Given the description of an element on the screen output the (x, y) to click on. 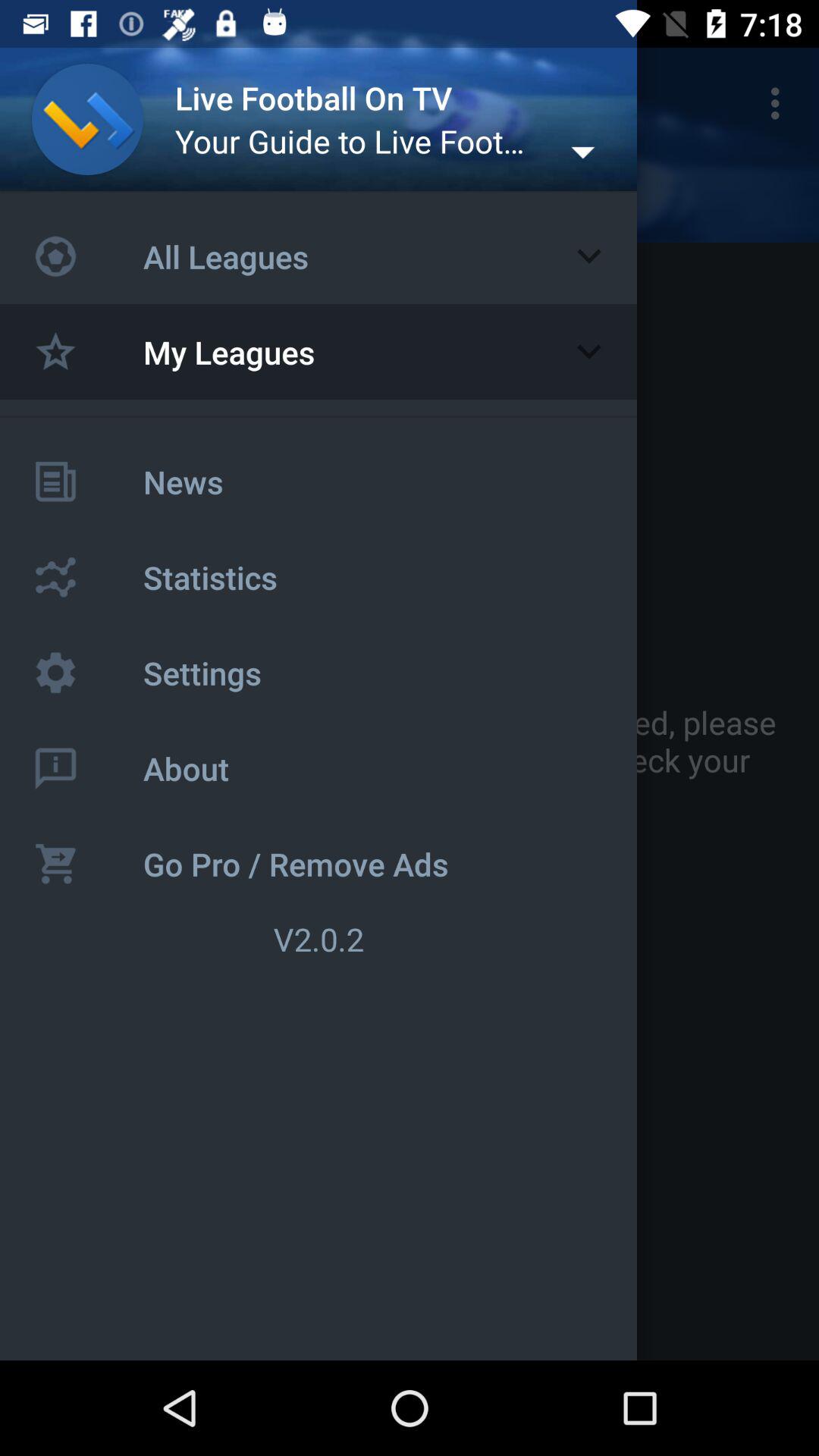
choose the icon to the right of the live football on (779, 103)
